Given the description of an element on the screen output the (x, y) to click on. 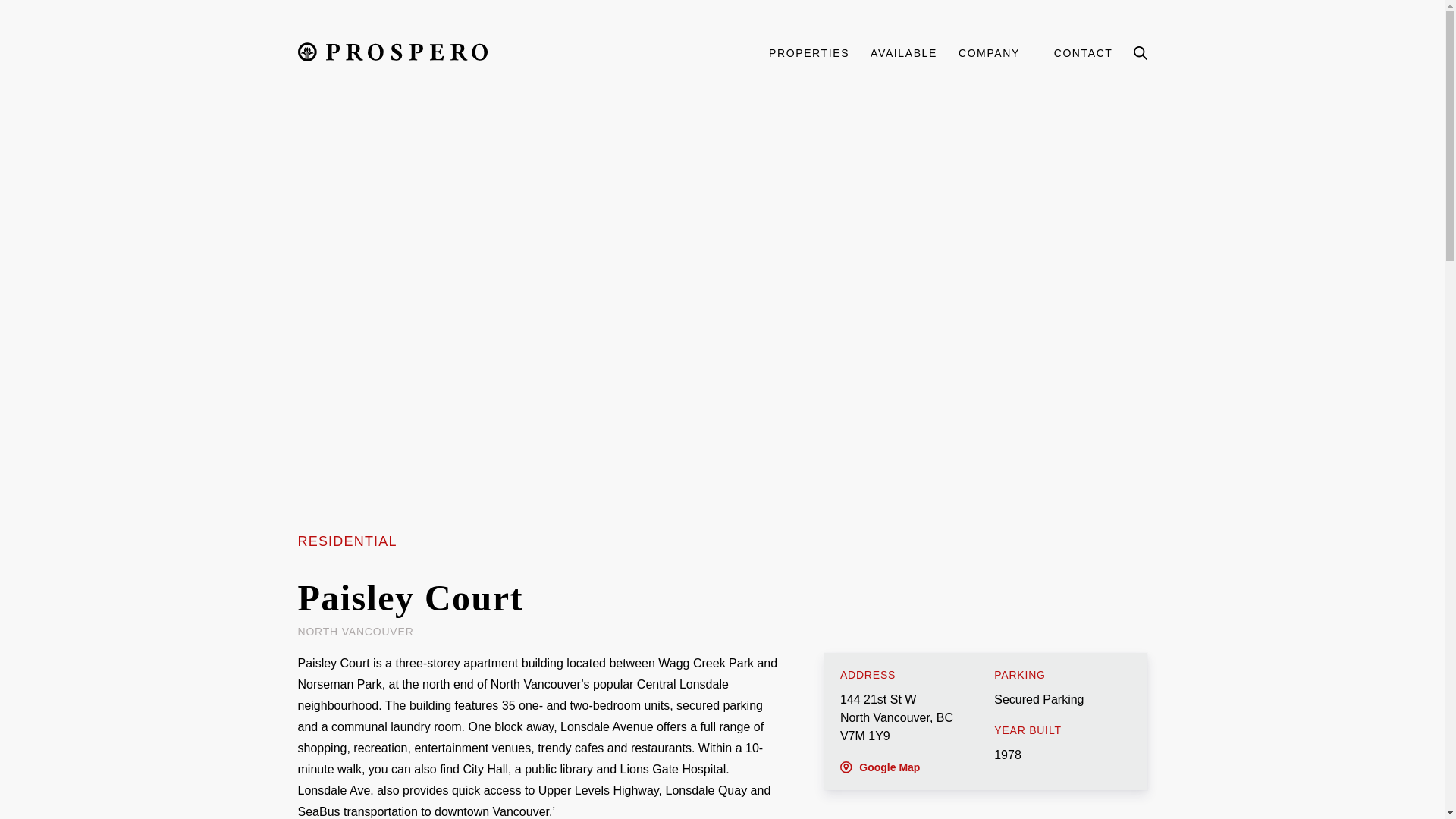
Google Map (880, 767)
CONTACT (1083, 52)
COMPANY (999, 52)
AVAILABLE (903, 52)
PROPERTIES (808, 52)
